Given the description of an element on the screen output the (x, y) to click on. 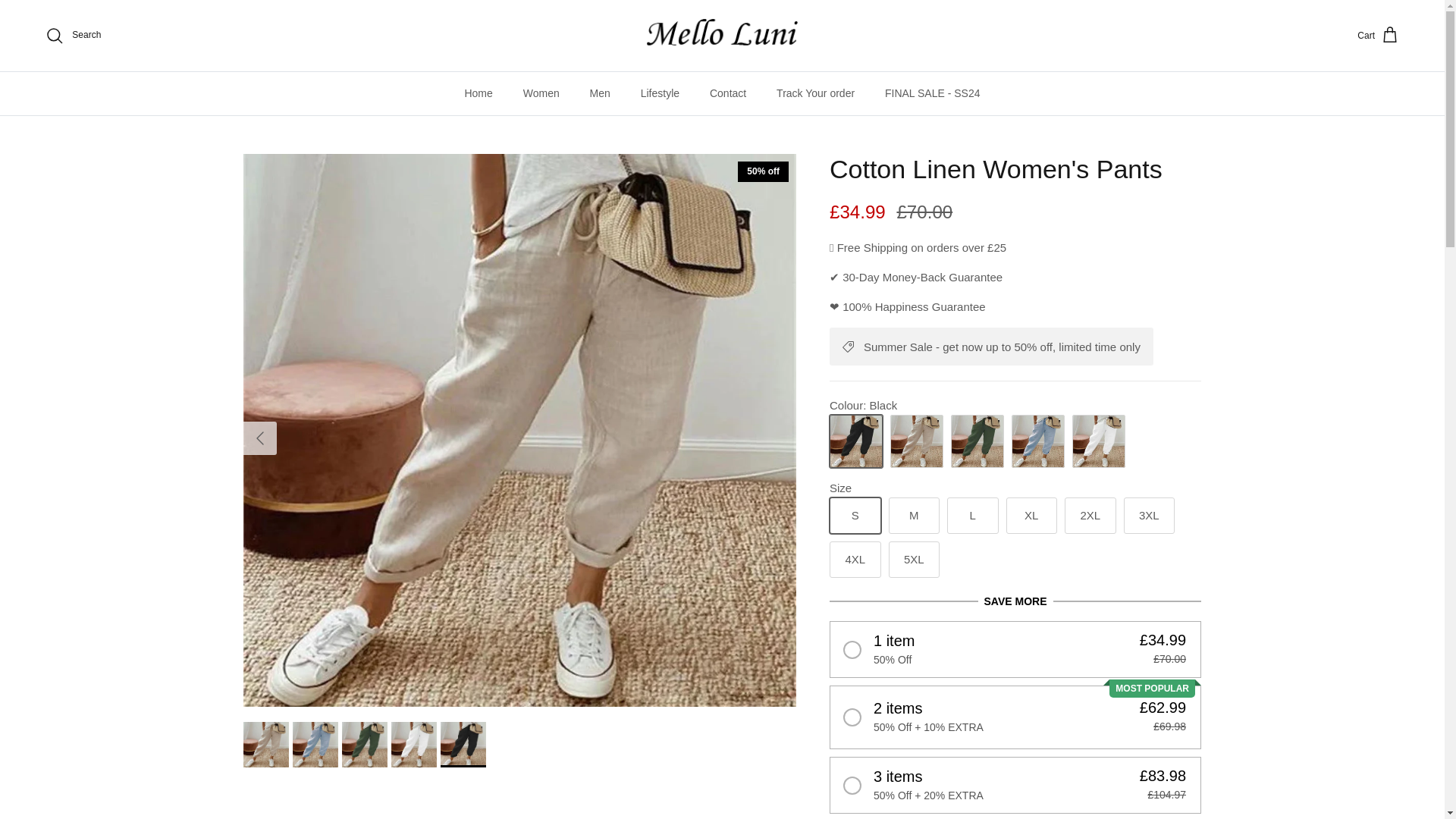
FINAL SALE - SS24 (932, 93)
Home (477, 93)
Women (541, 93)
Men (600, 93)
Track Your order (814, 93)
Contact (727, 93)
Lifestyle (660, 93)
Mello Luni (722, 35)
Cart (1377, 35)
Search (72, 35)
